Given the description of an element on the screen output the (x, y) to click on. 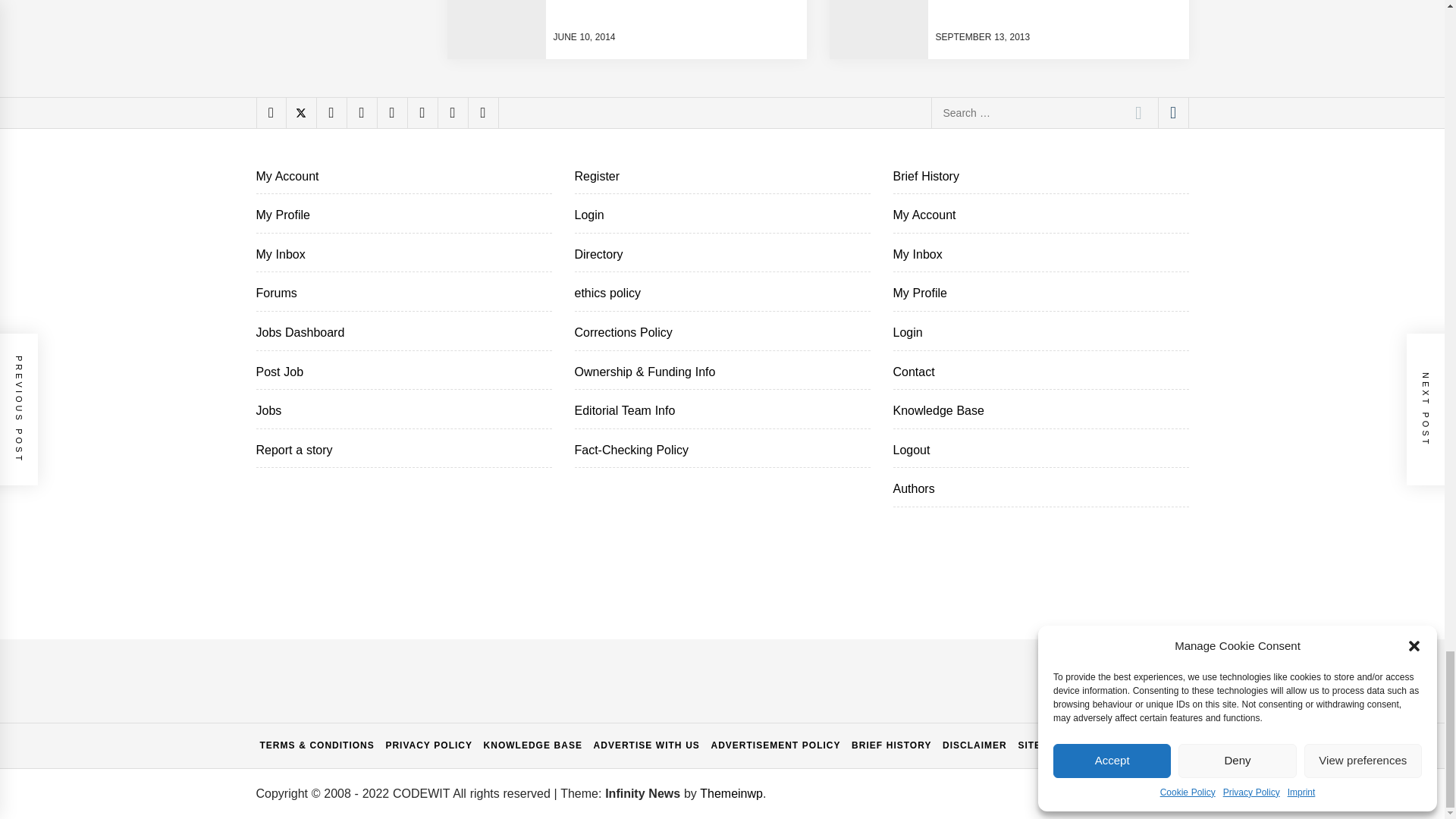
Search (1138, 112)
Search (1138, 112)
